Given the description of an element on the screen output the (x, y) to click on. 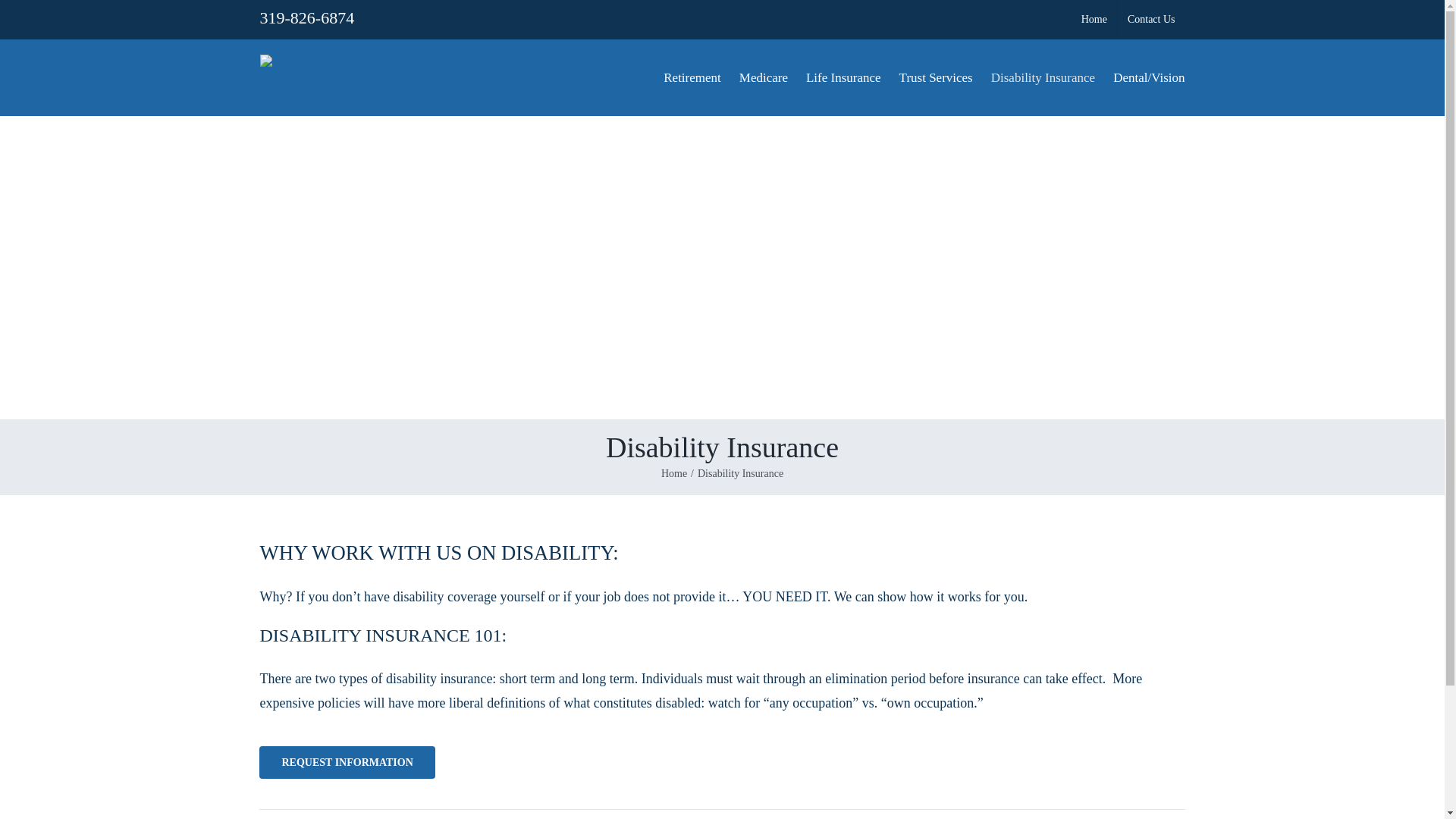
Trust Services (935, 77)
Life Insurance (843, 77)
Contact Us (1151, 19)
REQUEST INFORMATION (346, 762)
REQUEST INFORMATION (722, 770)
Home (674, 473)
Home (1093, 19)
Disability Insurance (1042, 77)
